Given the description of an element on the screen output the (x, y) to click on. 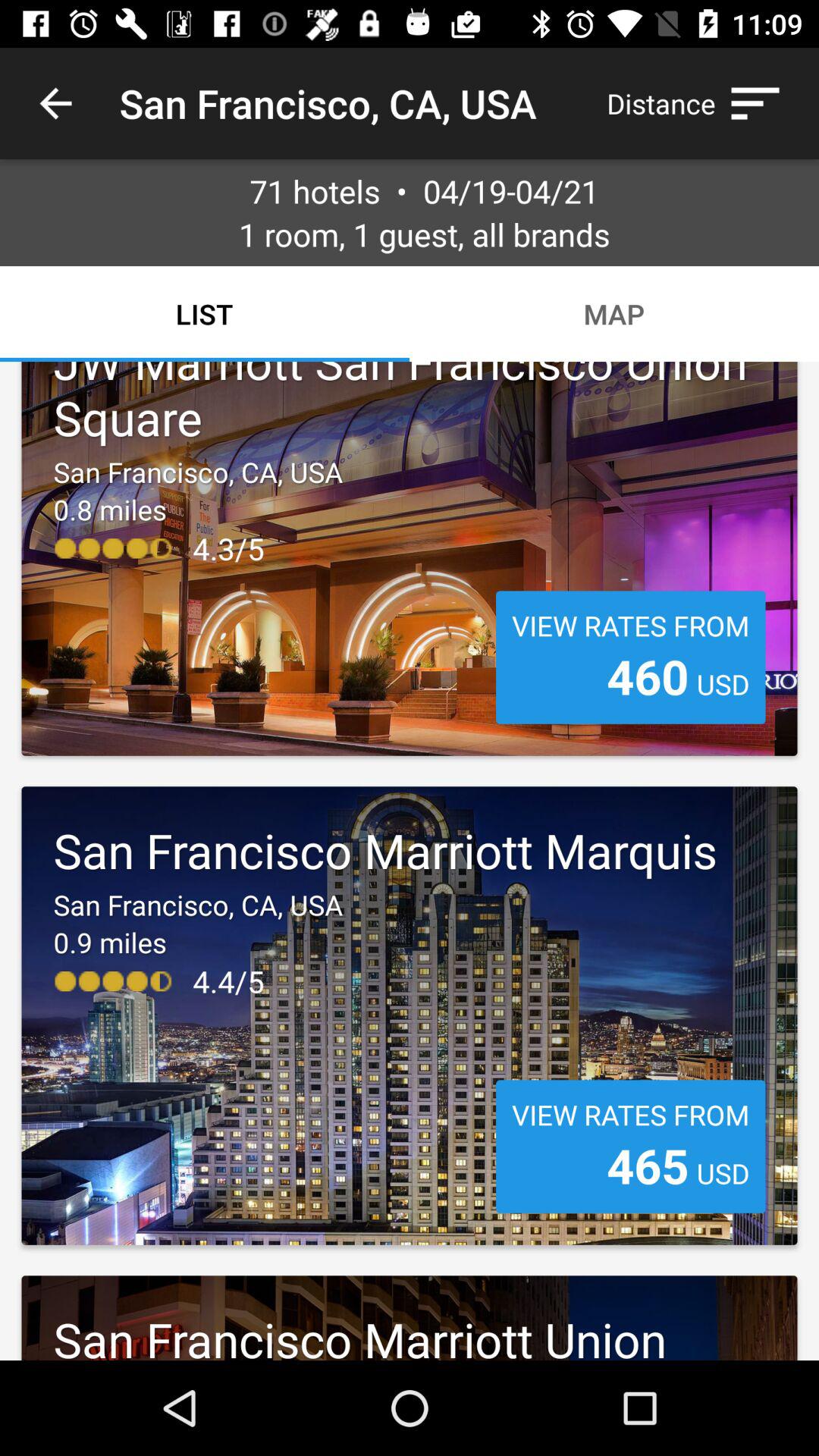
select the icon to the right of san francisco ca item (700, 103)
